Given the description of an element on the screen output the (x, y) to click on. 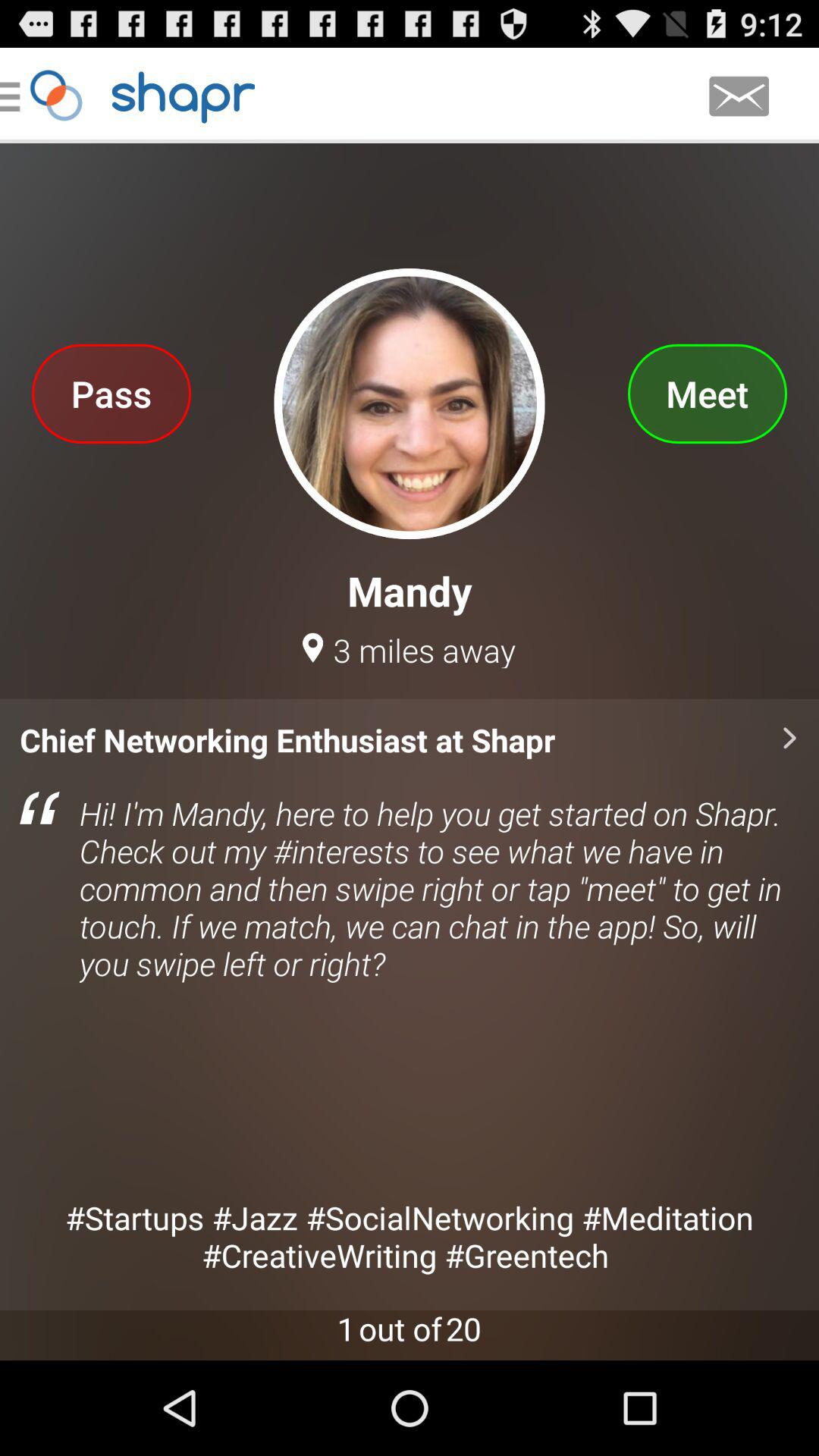
jump until the pass app (111, 393)
